Given the description of an element on the screen output the (x, y) to click on. 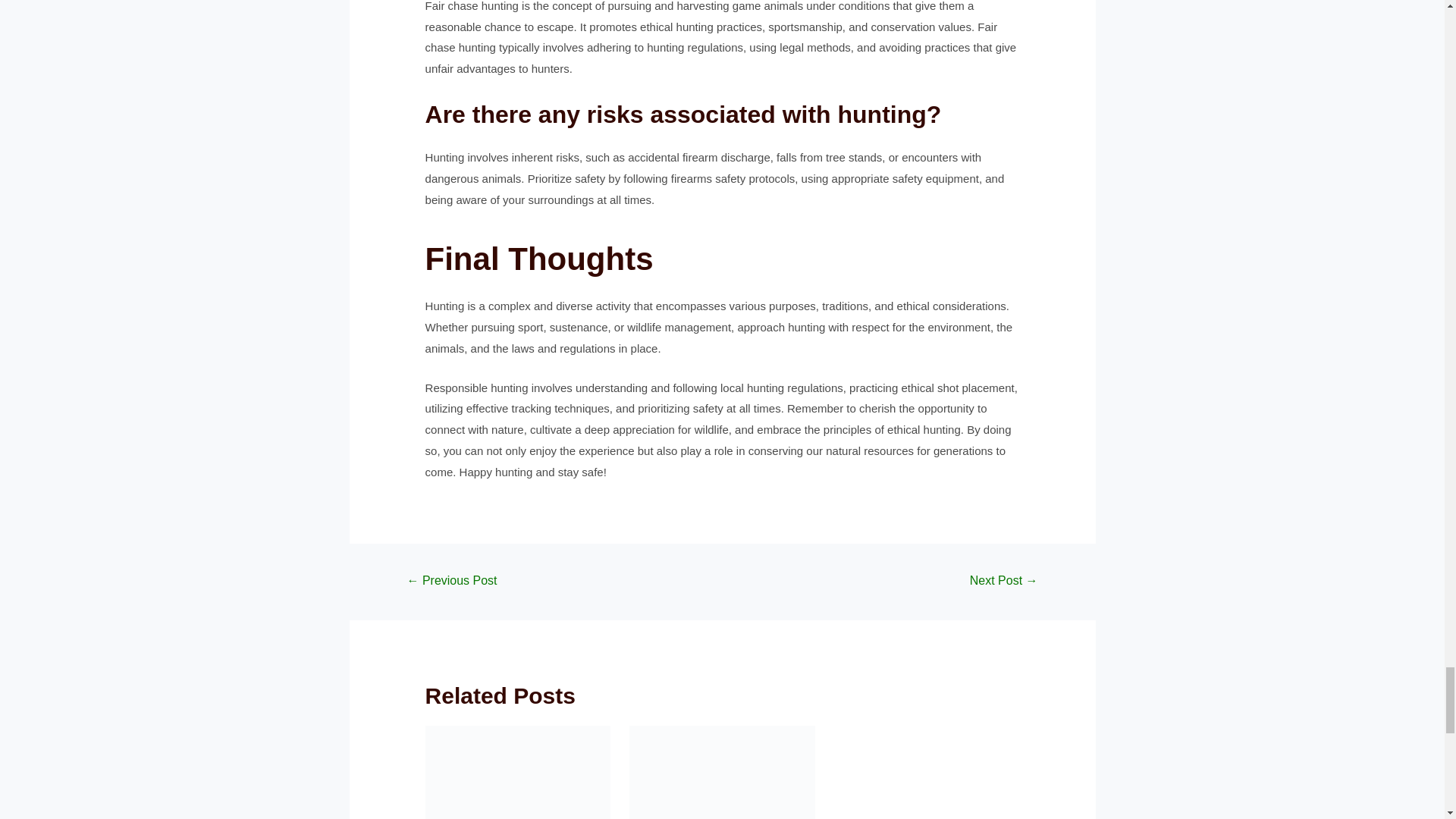
Understanding The Reality: Why Do People Hunt Doves (451, 582)
Do Deer Chew Cud? 10 (518, 772)
Why Were Hunting Laws Passed? (1004, 582)
